Given the description of an element on the screen output the (x, y) to click on. 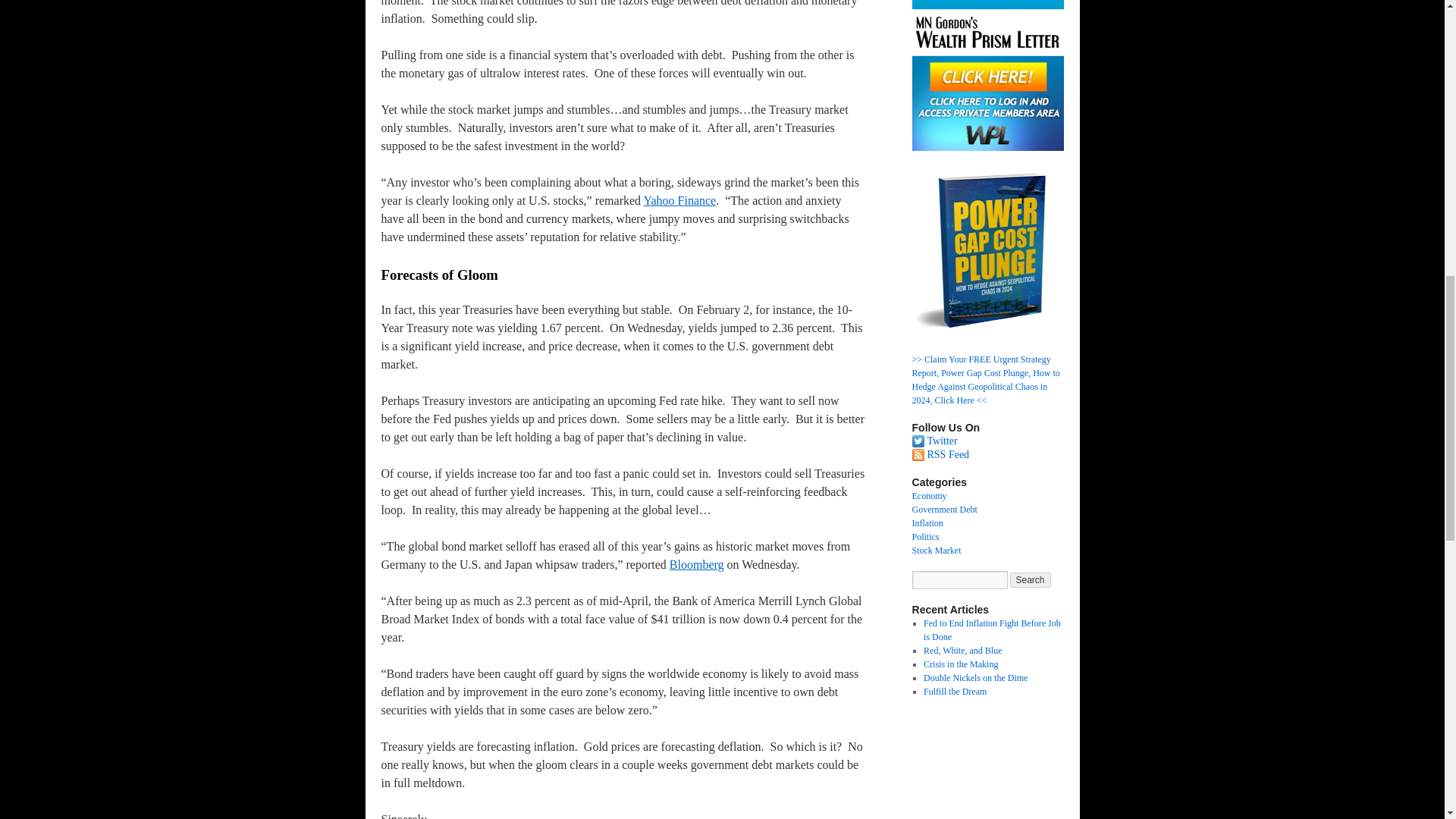
Subscribe to RSS Feed (947, 454)
Bloomberg (696, 563)
Yahoo Finance (679, 200)
Search (1030, 580)
Follow EconomicPrism on Twitter (941, 440)
